Given the description of an element on the screen output the (x, y) to click on. 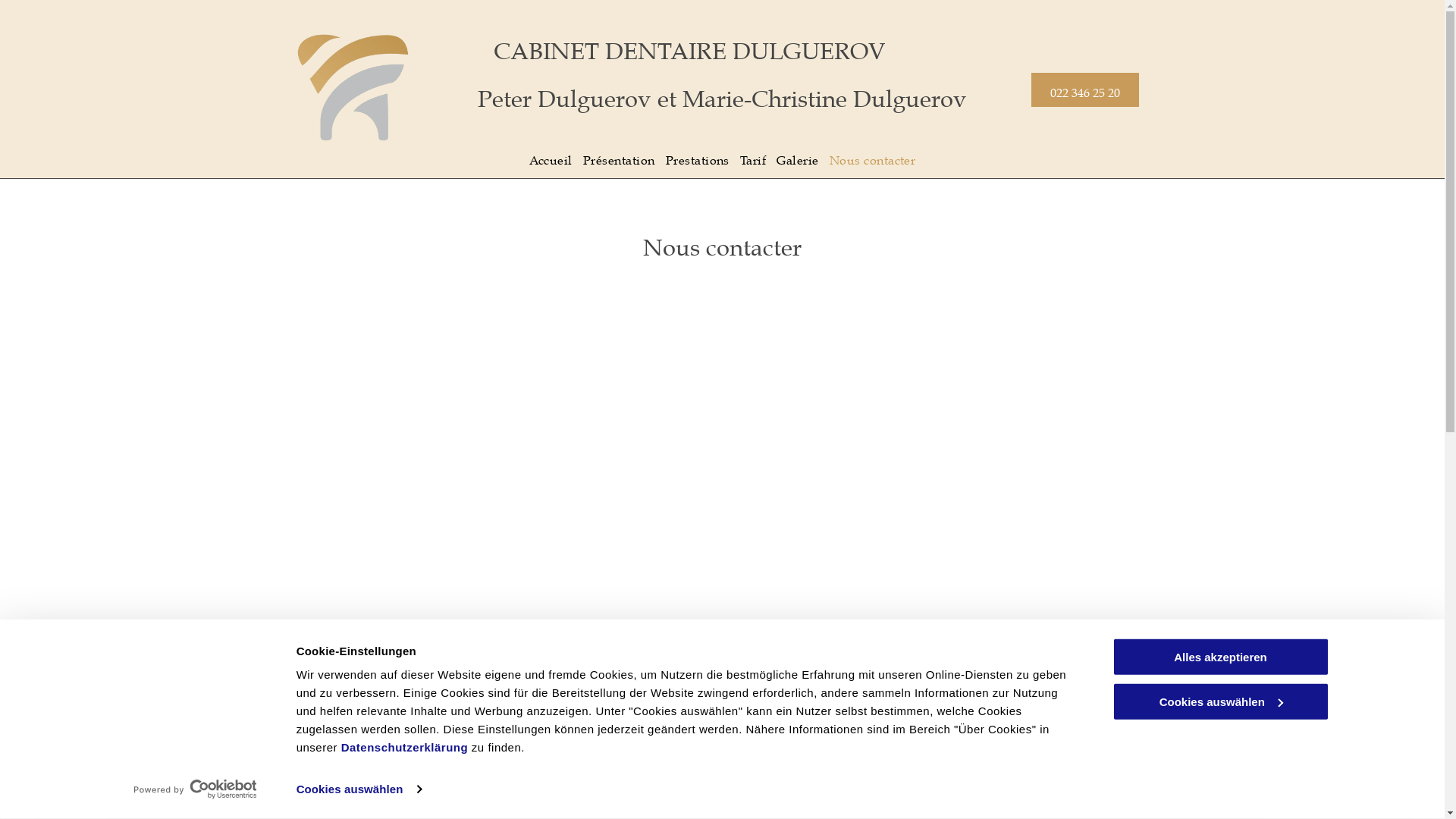
022 346 25 20 Element type: text (1085, 89)
Nous contacter Element type: text (872, 160)
Tarif Element type: text (752, 160)
Alles akzeptieren Element type: text (1219, 656)
Galerie Element type: text (797, 160)
Accueil Element type: text (550, 160)
TPG Element type: text (762, 774)
Prestations Element type: text (697, 160)
